Given the description of an element on the screen output the (x, y) to click on. 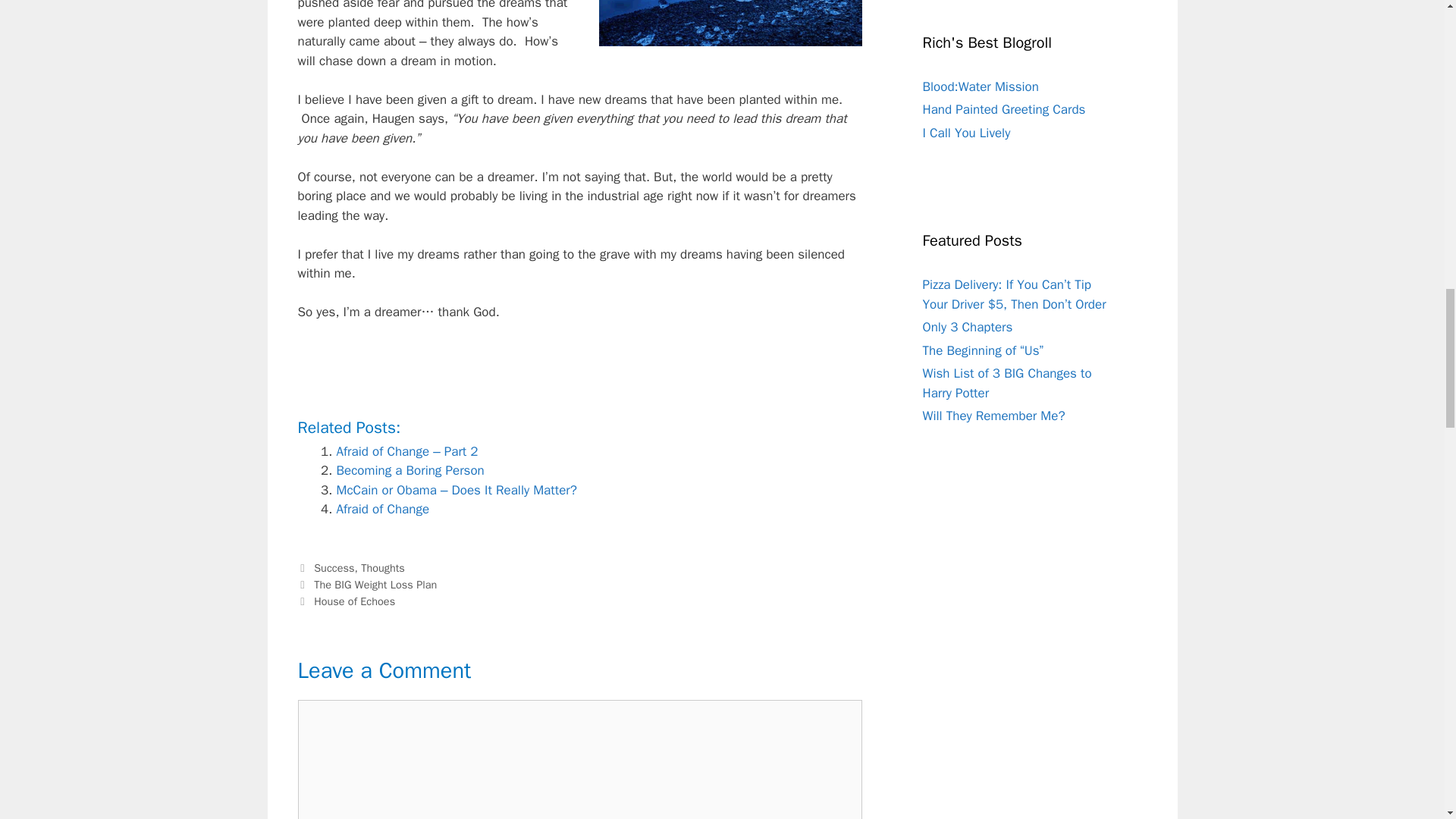
Becoming a Boring Person (410, 470)
The BIG Weight Loss Plan (375, 584)
Hand Painted Greeting Cards (1002, 109)
Afraid of Change (382, 508)
Becoming a Boring Person (410, 470)
I Call You Lively (965, 132)
Thoughts (382, 567)
Afraid of Change (382, 508)
Only 3 Chapters (966, 326)
House of Echoes (354, 601)
